Given the description of an element on the screen output the (x, y) to click on. 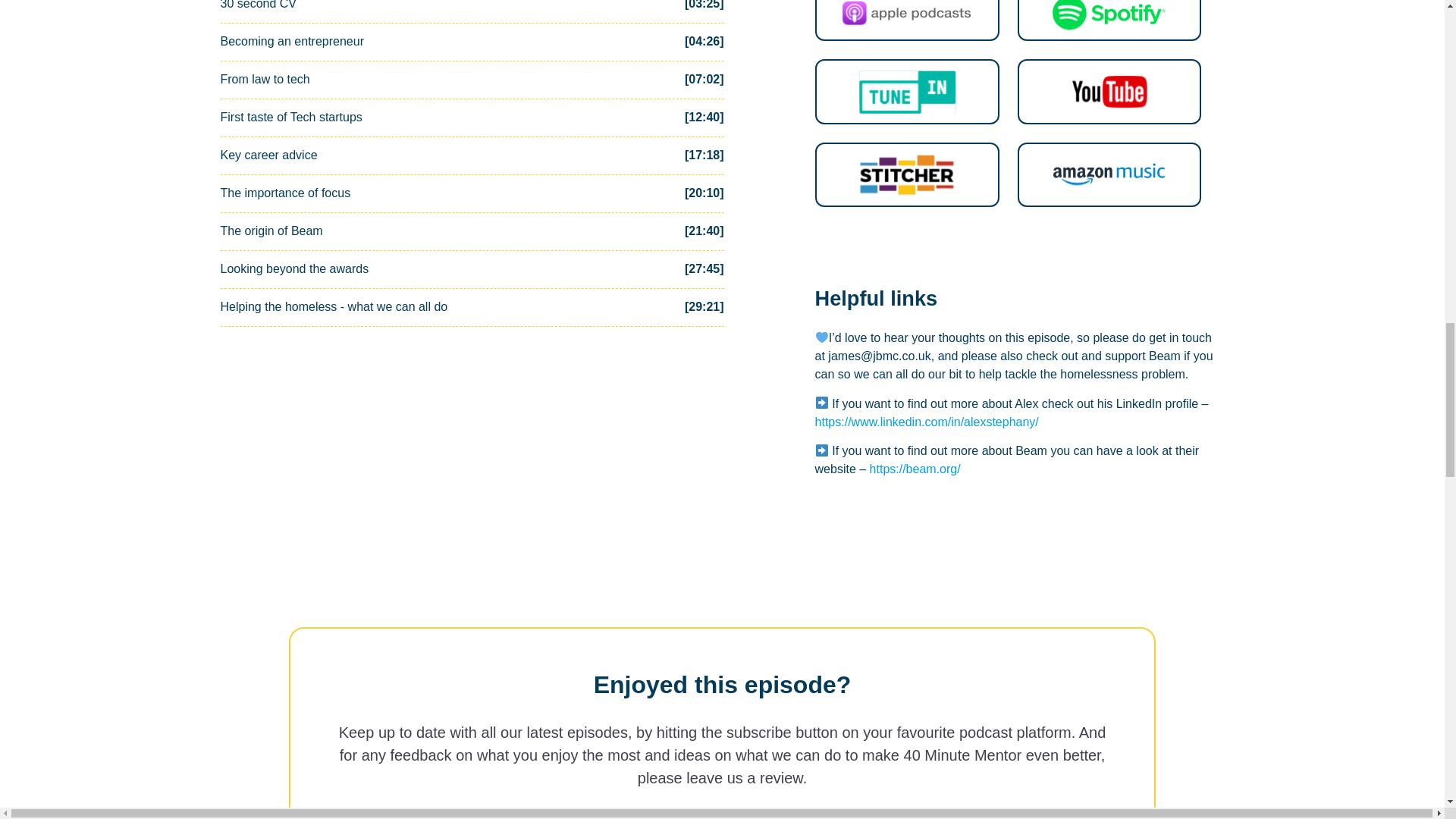
Leave us a review (722, 813)
